Given the description of an element on the screen output the (x, y) to click on. 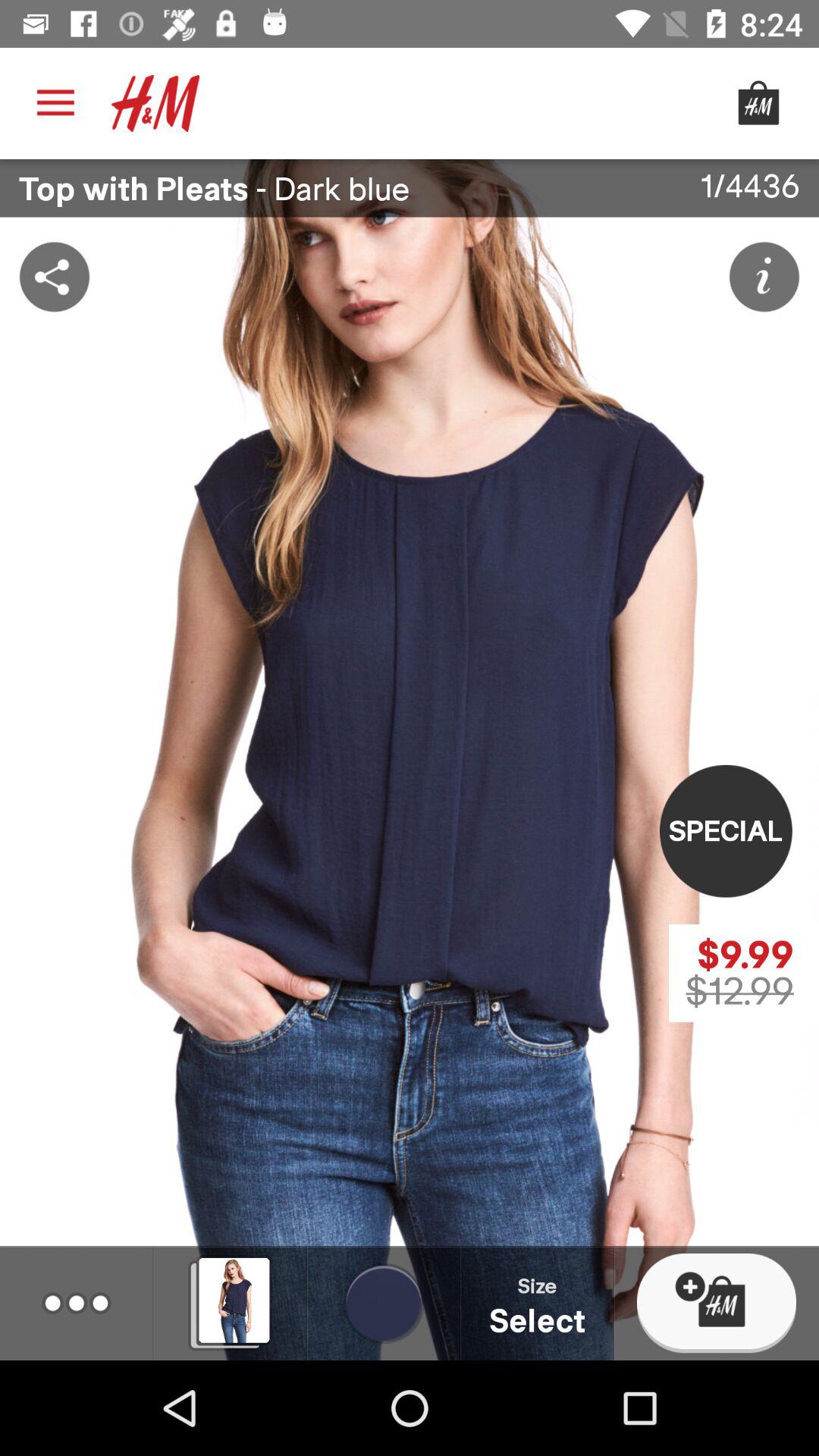
select the share icon on the left side (54, 276)
click on the image right to three dotted line icon (229, 1303)
click on the icon hm (155, 103)
click on information icon (764, 276)
go to shopping cart icon (758, 103)
select the size select text (537, 1302)
